Given the description of an element on the screen output the (x, y) to click on. 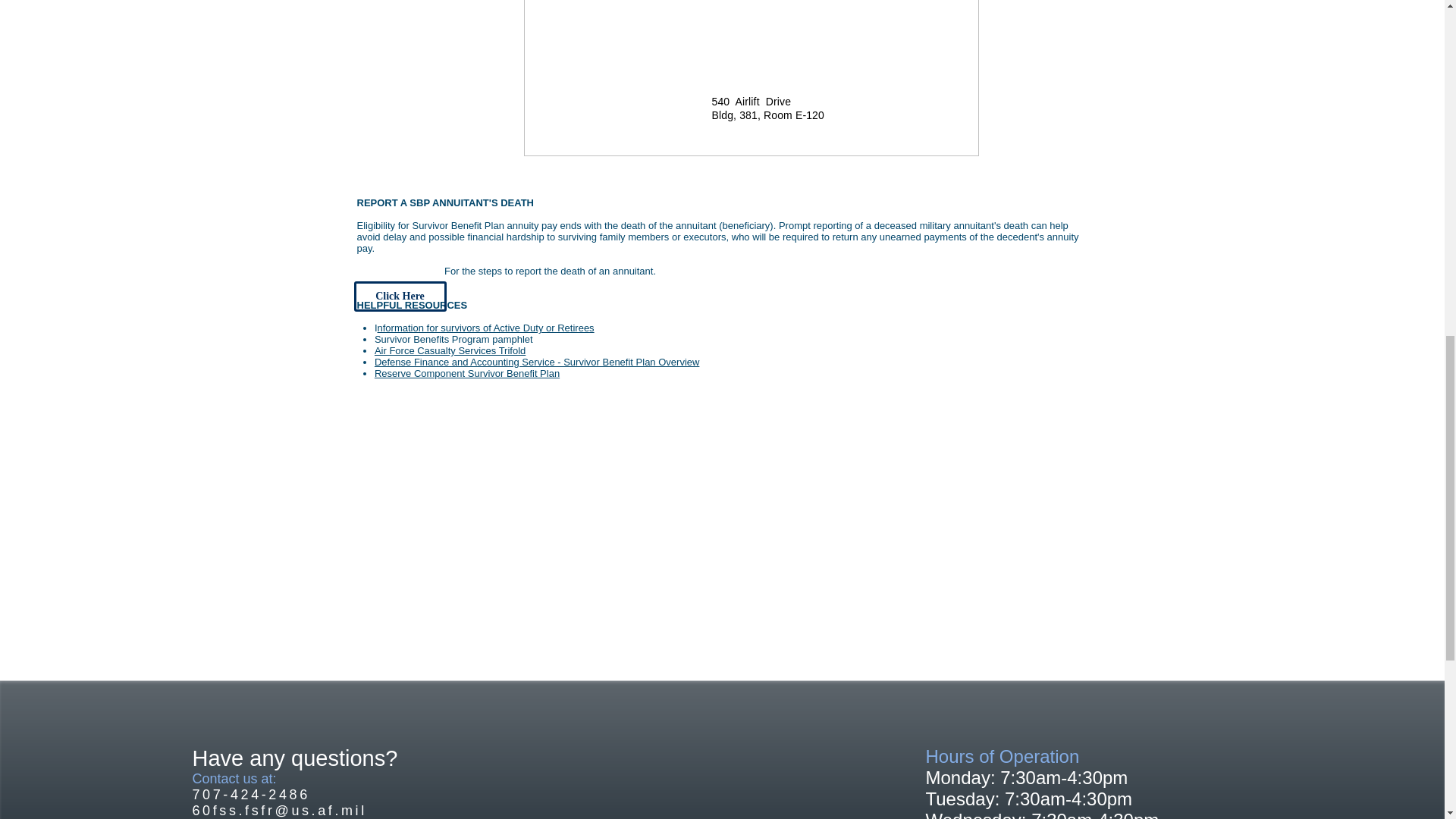
Air Force Casualty Services Trifold (449, 350)
Reserve Component Survivor Benefit Plan (466, 373)
nformation for survivors of Active Duty or Retirees (485, 327)
Click Here (399, 296)
